Given the description of an element on the screen output the (x, y) to click on. 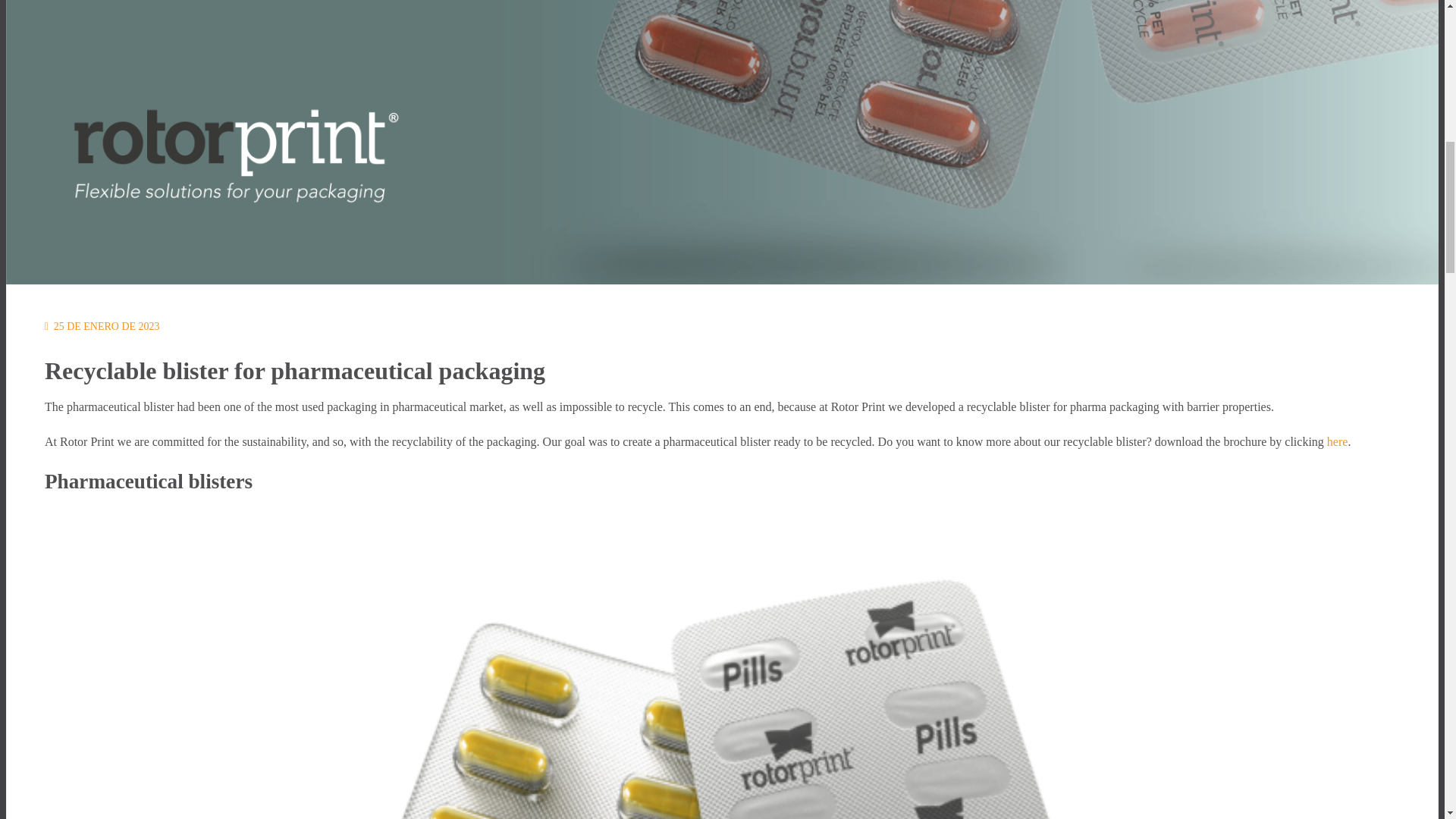
here (1337, 440)
